Given the description of an element on the screen output the (x, y) to click on. 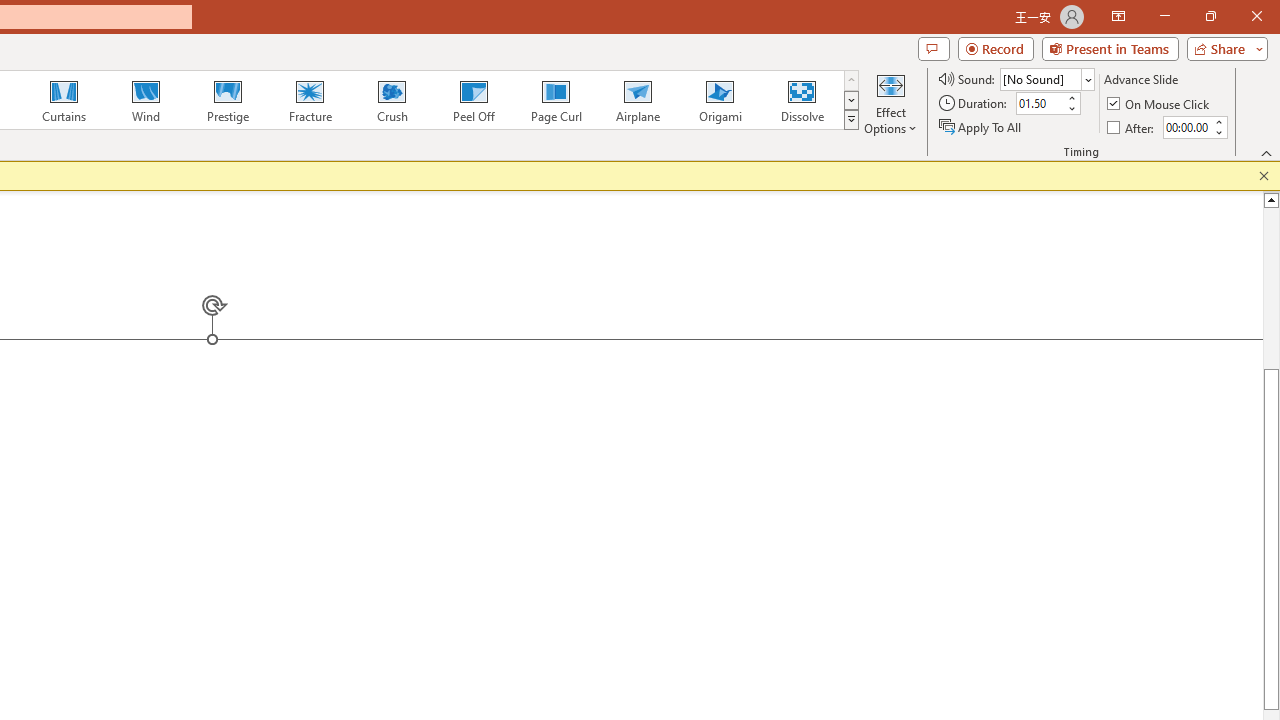
Apply To All (981, 126)
Fracture (309, 100)
Wind (145, 100)
